Given the description of an element on the screen output the (x, y) to click on. 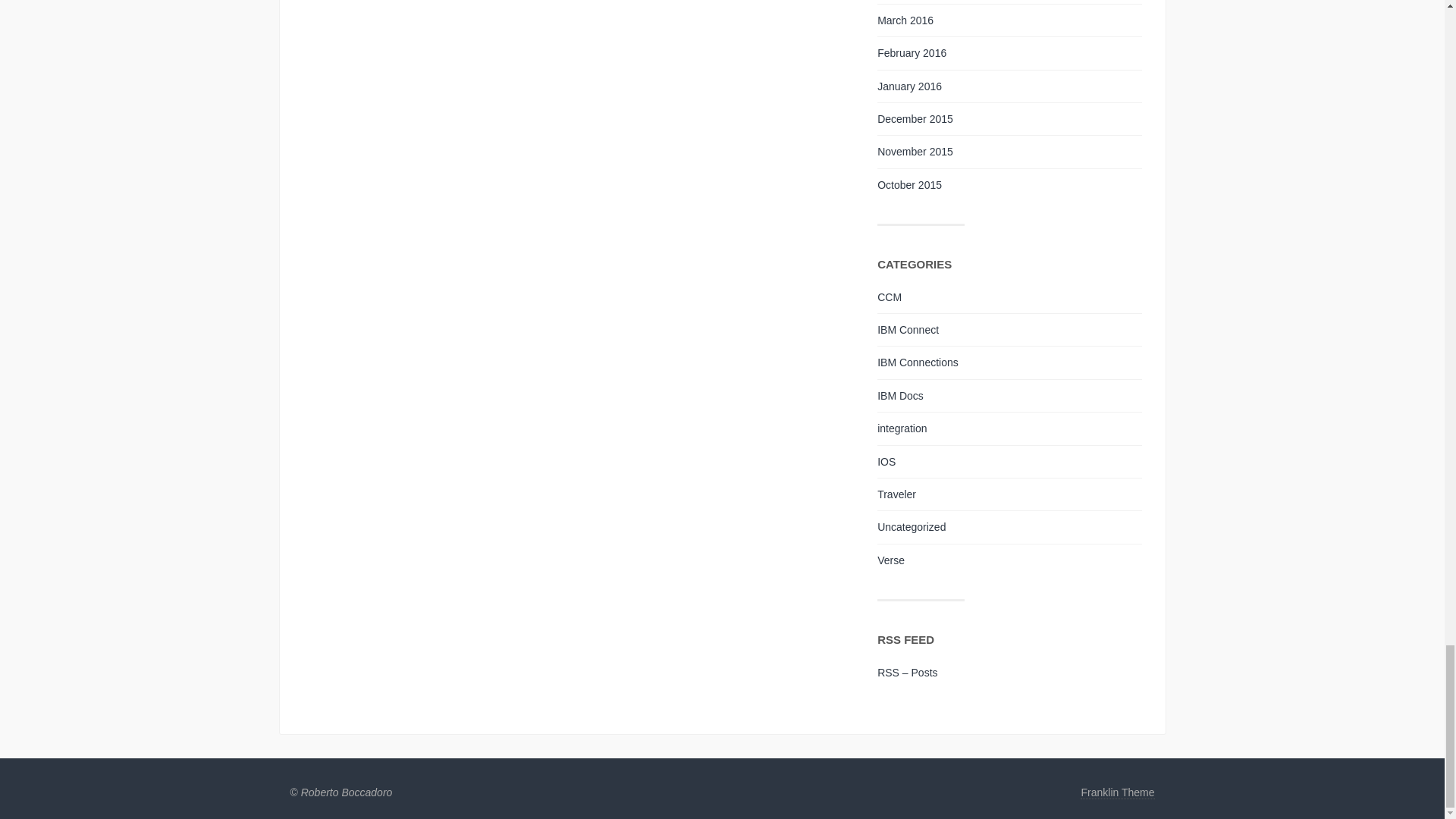
Subscribe to posts (907, 672)
Franklin WordPress Theme (1117, 792)
Roberto Boccadoro (347, 792)
